Given the description of an element on the screen output the (x, y) to click on. 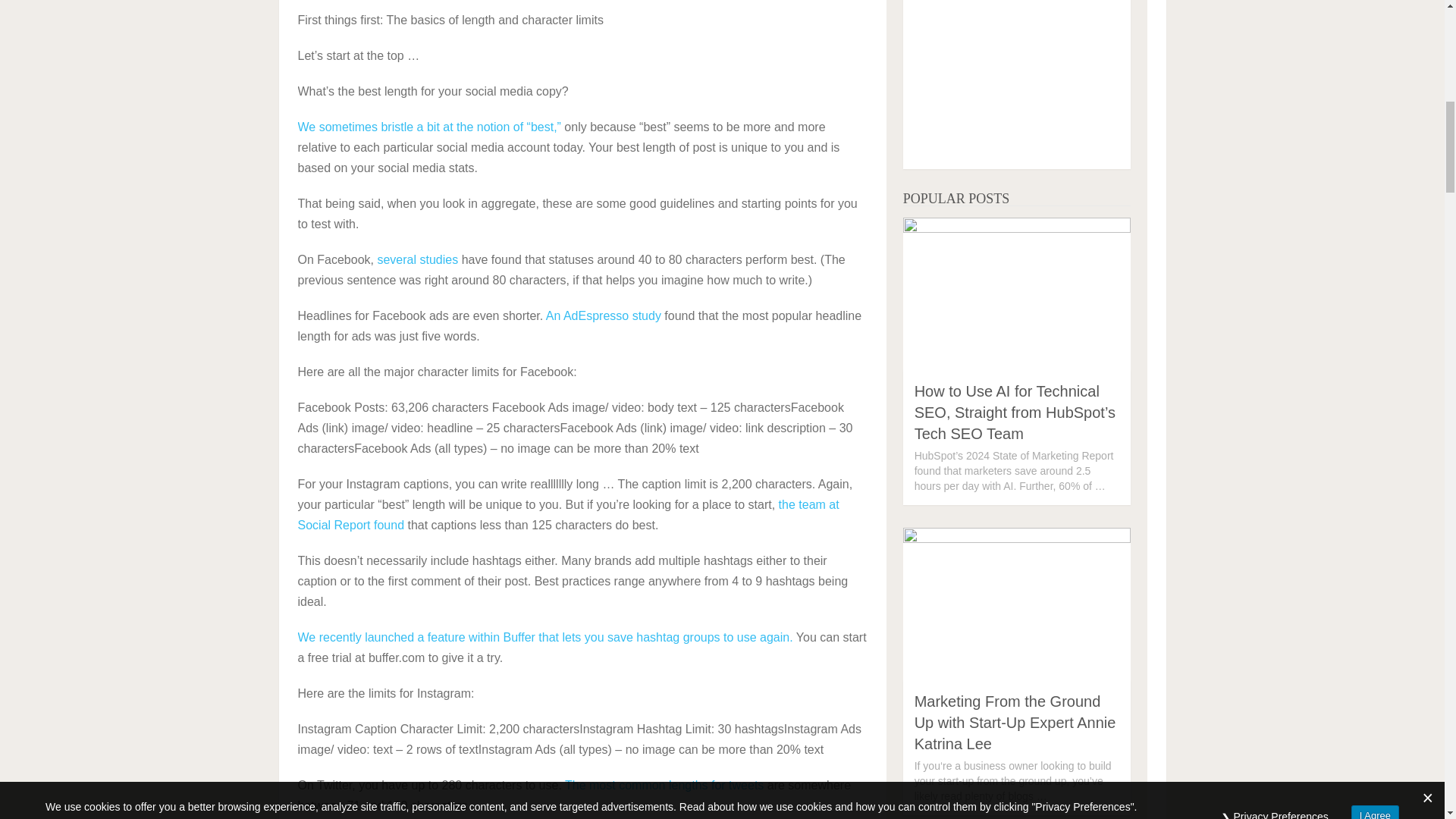
An AdEspresso study (603, 315)
several (396, 259)
the team at Social Report found (567, 514)
The most common lengths for tweets (663, 784)
studies (438, 259)
